Given the description of an element on the screen output the (x, y) to click on. 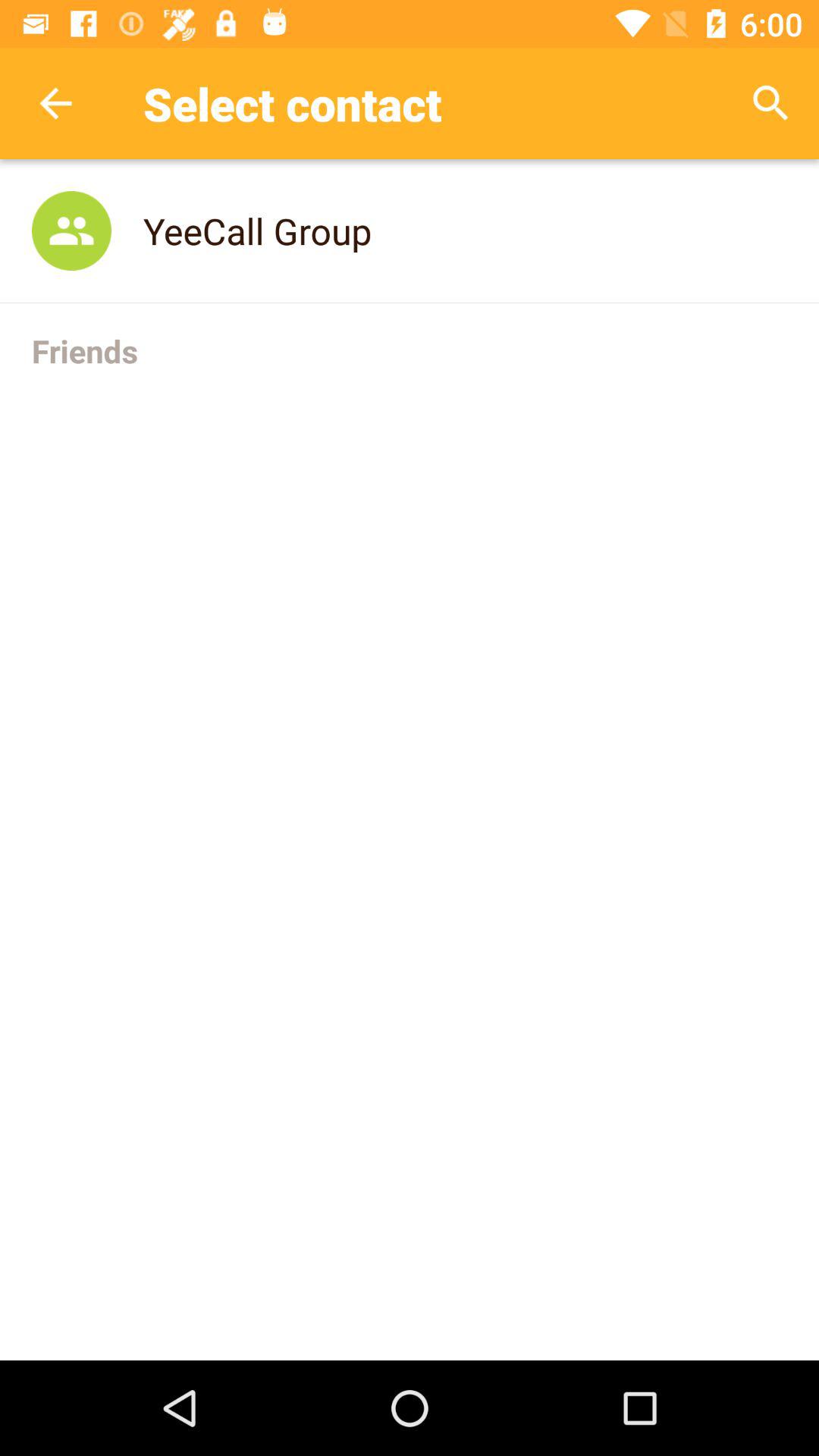
go to previous (55, 103)
